Given the description of an element on the screen output the (x, y) to click on. 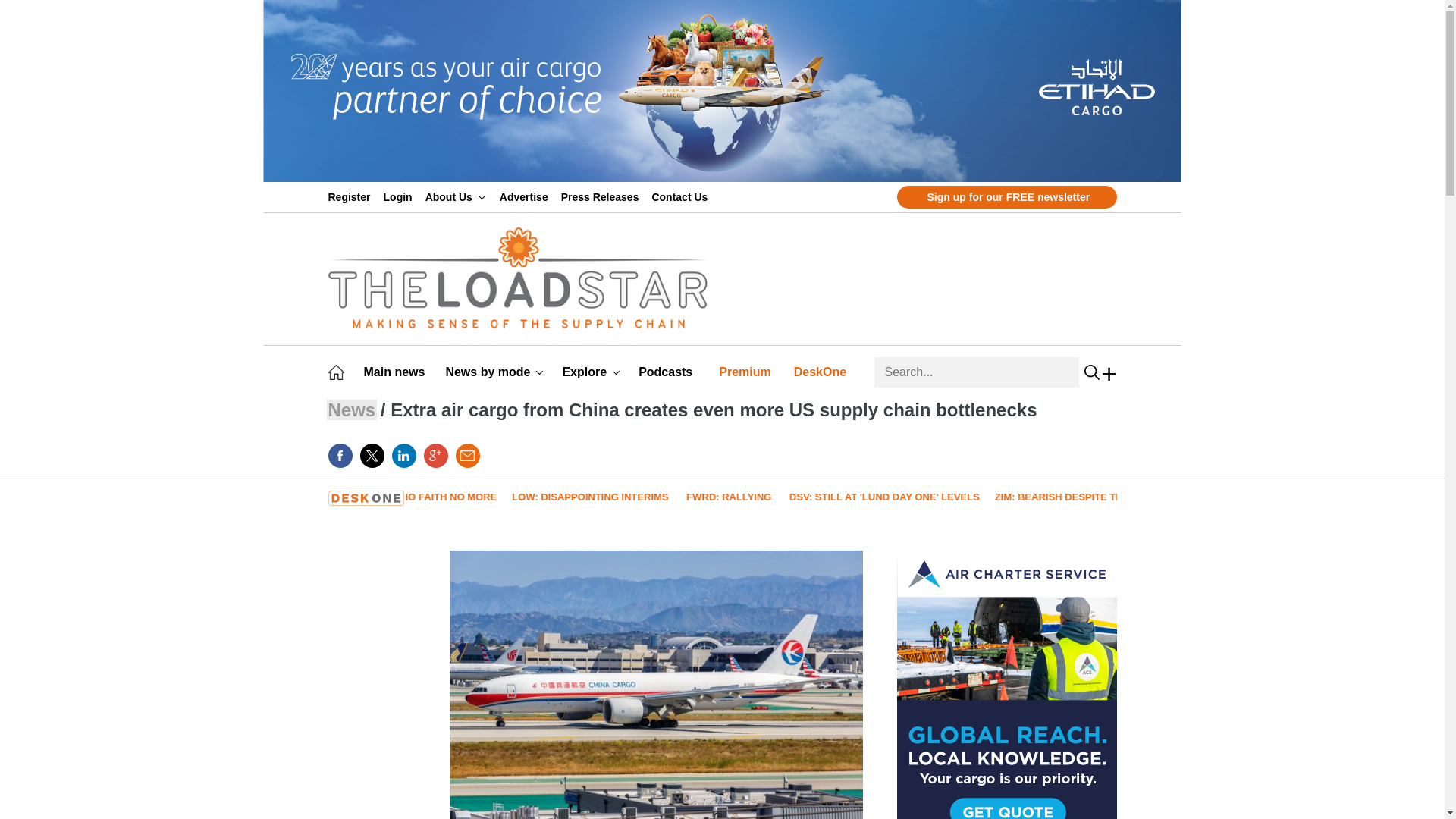
Advertise (526, 196)
Contact Us (681, 196)
Press Releases (602, 196)
About Us (455, 196)
Register (351, 196)
Premium (747, 371)
Main news (397, 371)
Explore (591, 371)
Login (400, 196)
Press Releases (602, 196)
